Given the description of an element on the screen output the (x, y) to click on. 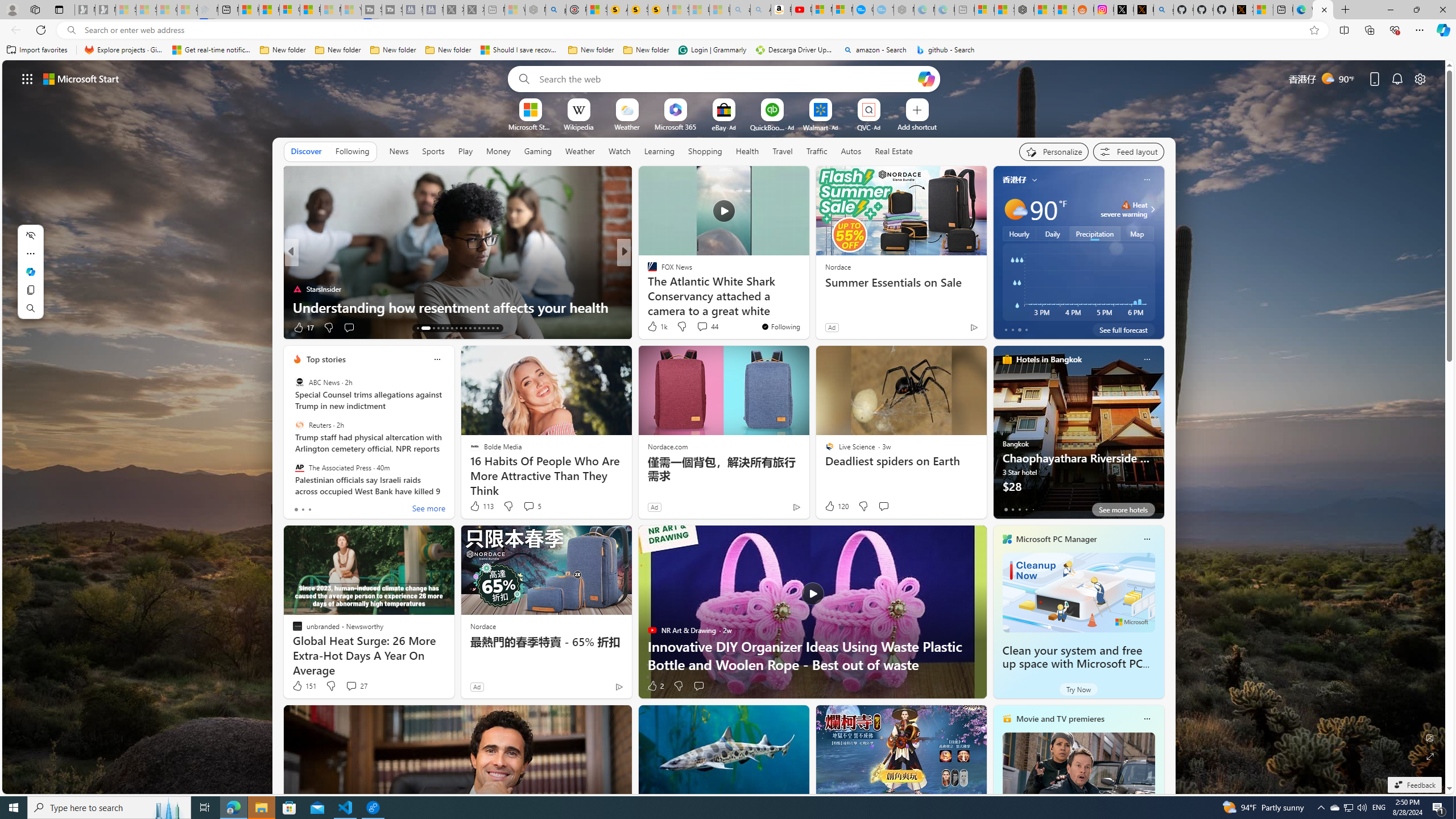
Top stories (325, 359)
Real Estate (893, 151)
Microsoft PC Manager (1056, 538)
The Kanso (647, 270)
New folder (646, 49)
Shopping (705, 151)
Microsoft account | Microsoft Account Privacy Settings (983, 9)
Gaming (537, 151)
Nordace - Nordace has arrived Hong Kong - Sleeping (903, 9)
